Given the description of an element on the screen output the (x, y) to click on. 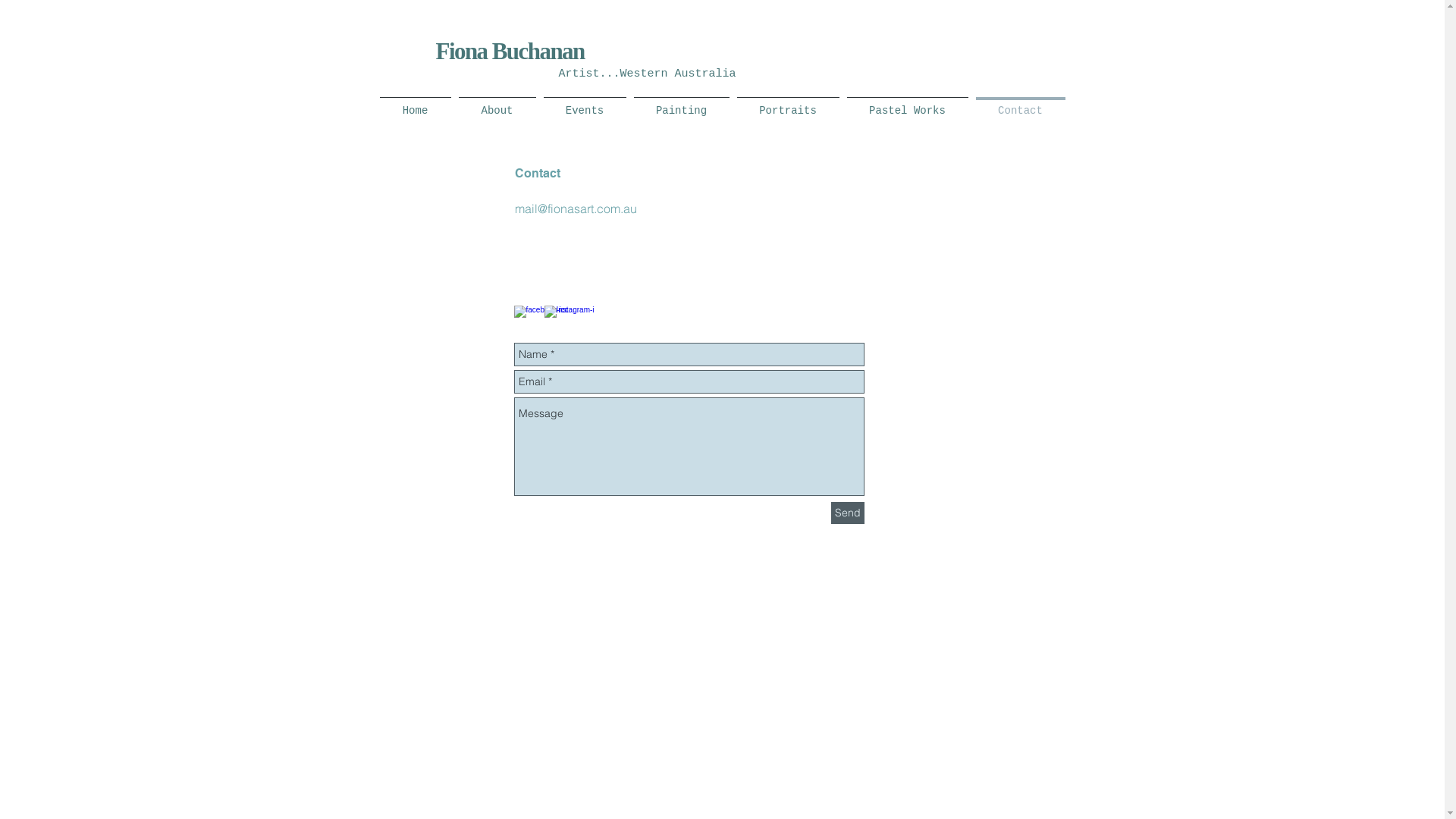
mail@fionasart.com.au Element type: text (575, 208)
Pastel Works Element type: text (907, 103)
Painting Element type: text (680, 103)
Send Element type: text (847, 513)
About Element type: text (497, 103)
Portraits Element type: text (787, 103)
Home Element type: text (415, 103)
Events Element type: text (584, 103)
Contact Element type: text (1020, 103)
